Given the description of an element on the screen output the (x, y) to click on. 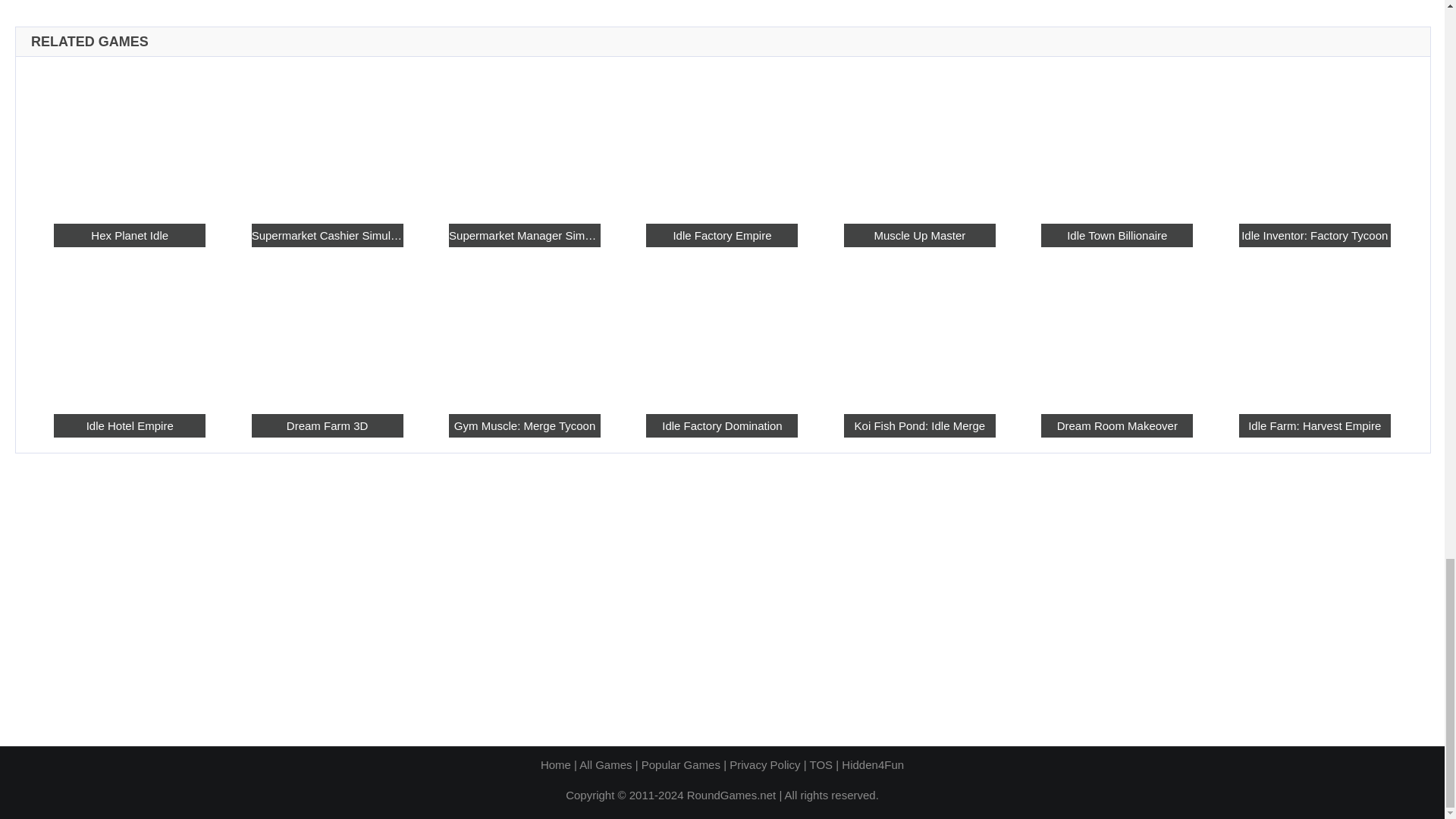
Hex Planet Idle (129, 235)
Supermarket Cashier Simulator (327, 235)
Idle Town Billionaire (1116, 235)
Idle Factory Empire (721, 235)
Idle Inventor: Factory Tycoon (1314, 235)
Muscle Up Master (919, 235)
Hex Planet Idle (129, 138)
Idle Inventor: Factory Tycoon (1314, 138)
Supermarket Cashier Simulator (327, 138)
Idle Town Billionaire (1116, 138)
